Given the description of an element on the screen output the (x, y) to click on. 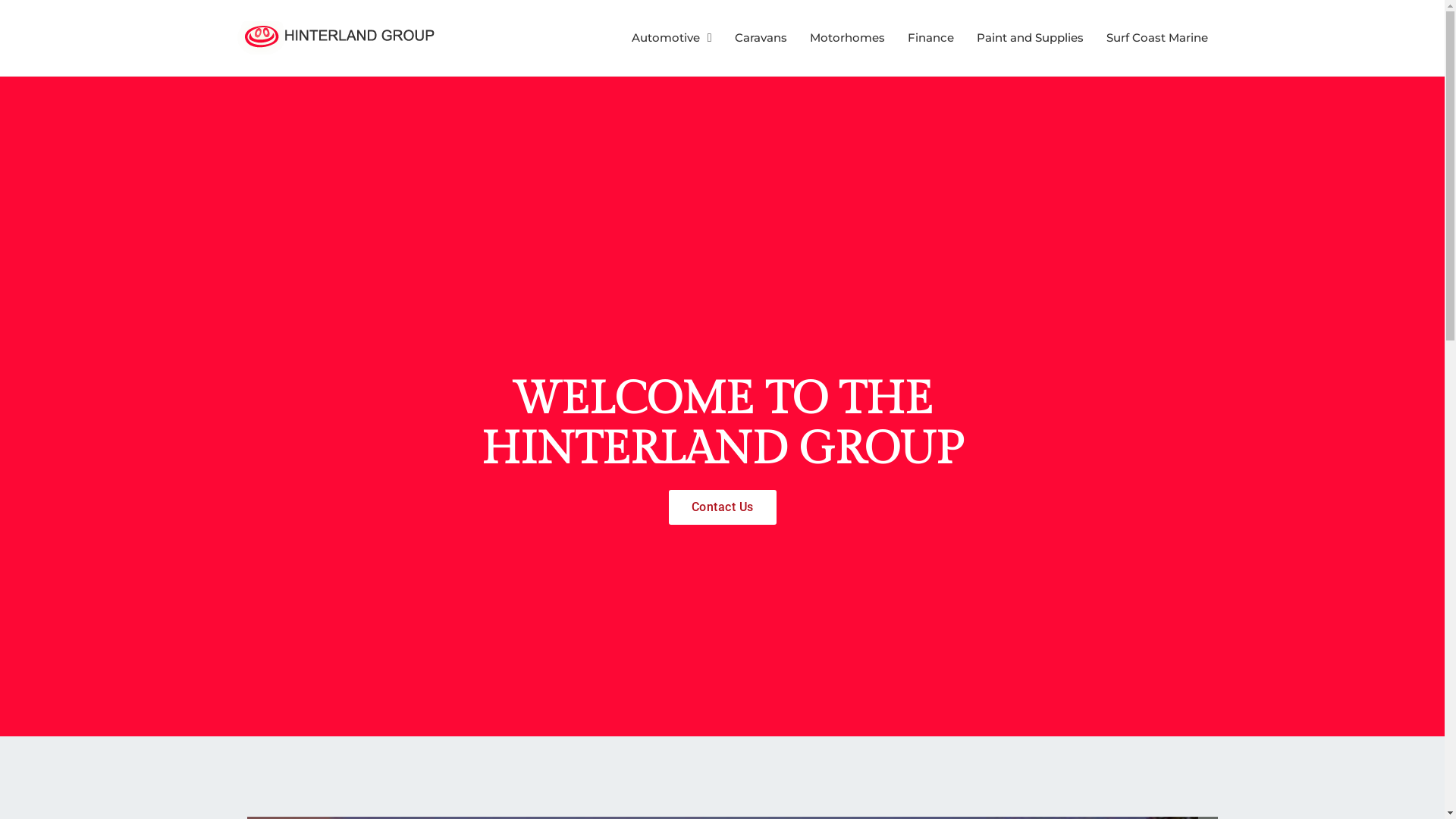
Automotive Element type: text (671, 37)
Finance Element type: text (929, 37)
Motorhomes Element type: text (846, 37)
Caravans Element type: text (760, 37)
Surf Coast Marine Element type: text (1156, 37)
Paint and Supplies Element type: text (1029, 37)
Contact Us Element type: text (722, 506)
